Given the description of an element on the screen output the (x, y) to click on. 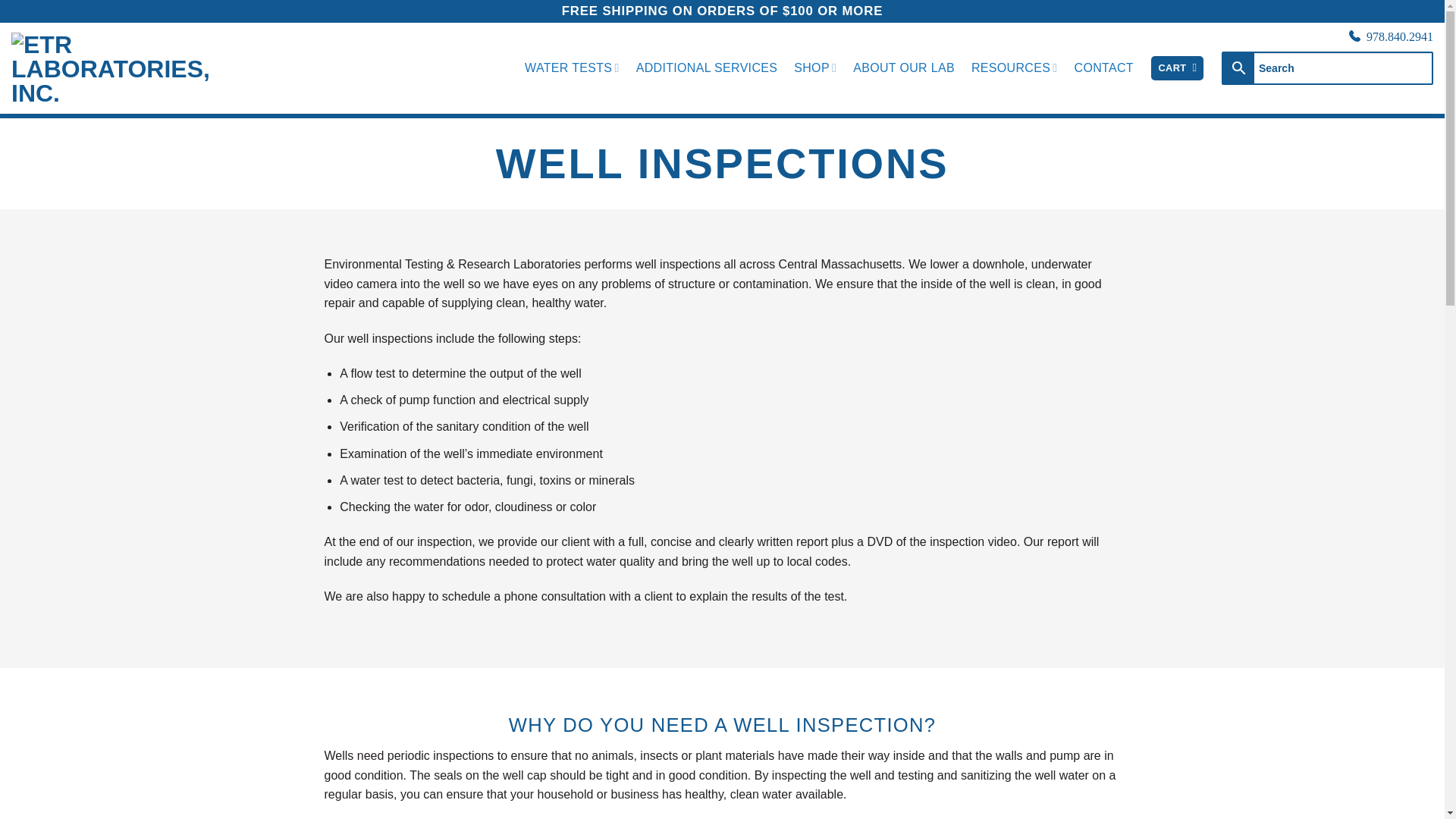
CONTACT (1104, 67)
ETR Laboratories, Inc. - The Water Test Experts (124, 67)
ADDITIONAL SERVICES (706, 67)
Cart (1177, 68)
SHOP (814, 67)
WATER TESTS (572, 67)
ABOUT OUR LAB (904, 67)
978.840.2941 (1399, 36)
CART (1177, 68)
RESOURCES (1014, 67)
